Given the description of an element on the screen output the (x, y) to click on. 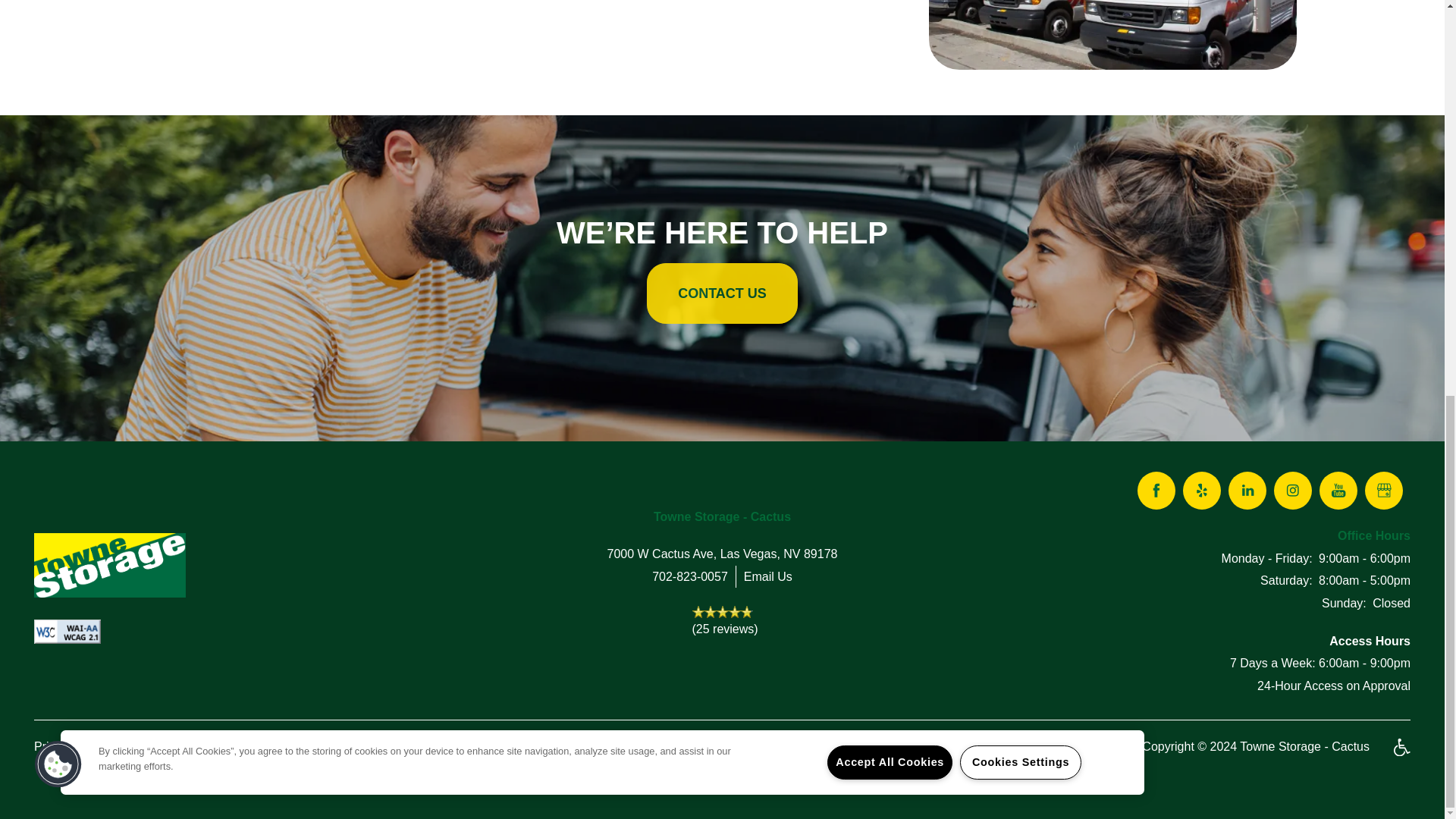
Facebook (1155, 490)
Property Phone Number (690, 576)
Explanation of WCAG 2 Level AA Conformance (66, 631)
LinkedIn (1247, 490)
Instagram (1292, 490)
CONTACT US (721, 292)
YouTube (1337, 490)
Yelp (1201, 490)
Google My Business (1384, 490)
7000 W Cactus Ave, Las Vegas, NV 89178 (722, 553)
Cookies Button (57, 11)
